Given the description of an element on the screen output the (x, y) to click on. 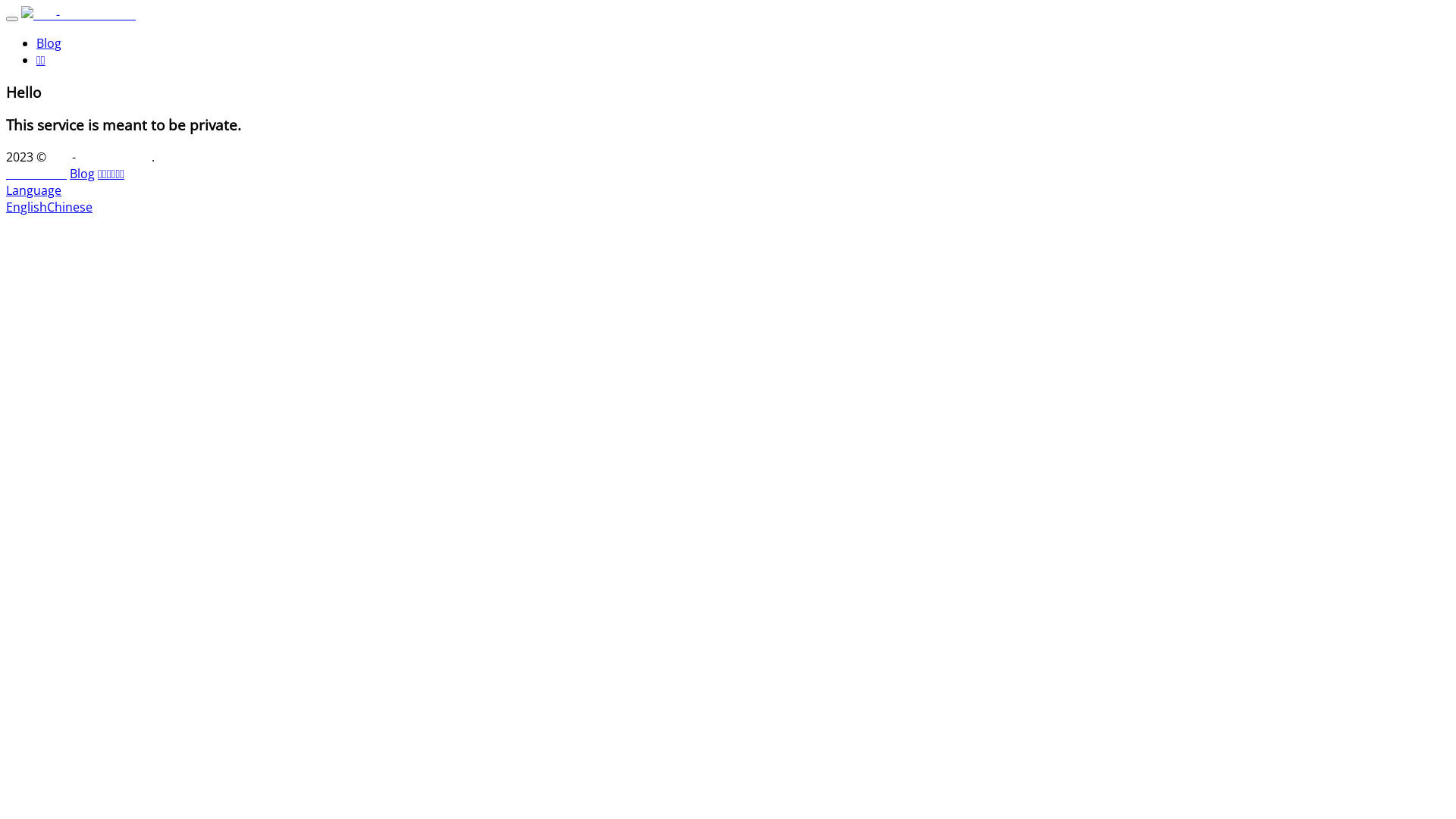
Language Element type: text (33, 190)
Blog Element type: text (48, 42)
Blog Element type: text (81, 173)
English Element type: text (26, 206)
Chinese Element type: text (69, 206)
